Given the description of an element on the screen output the (x, y) to click on. 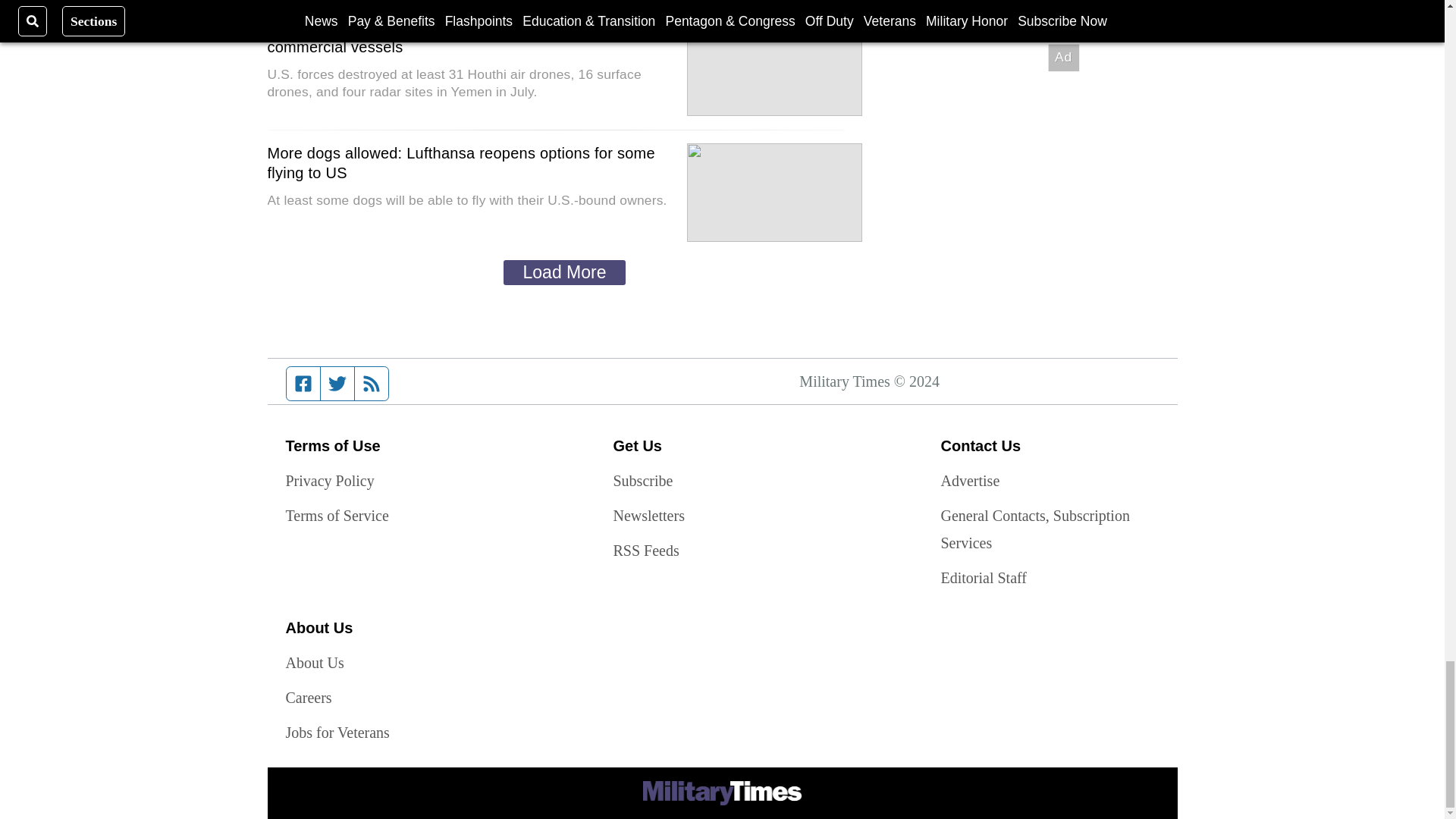
RSS feed (371, 383)
Twitter feed (336, 383)
Facebook page (303, 383)
